Given the description of an element on the screen output the (x, y) to click on. 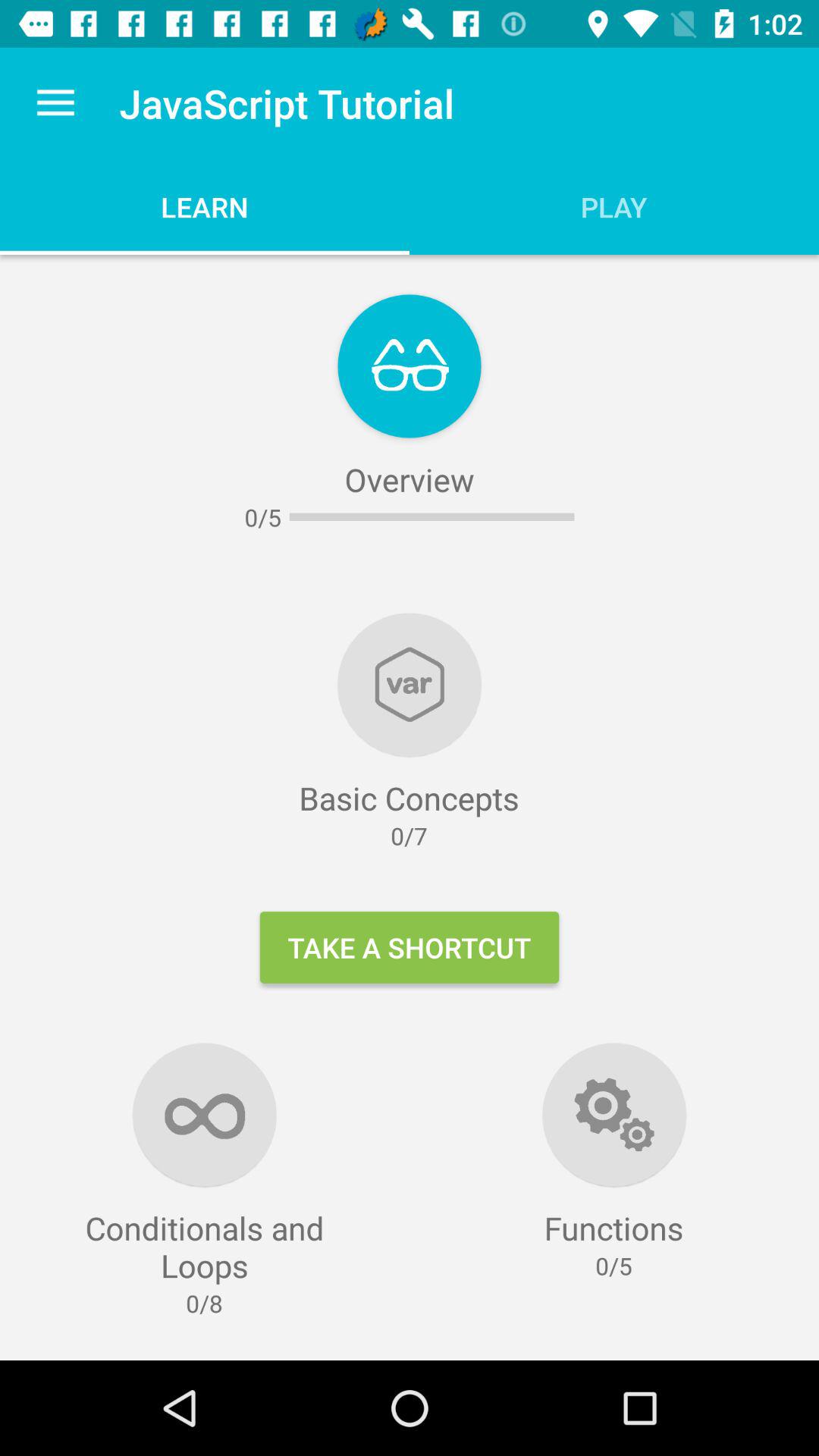
click the take a shortcut item (409, 947)
